Given the description of an element on the screen output the (x, y) to click on. 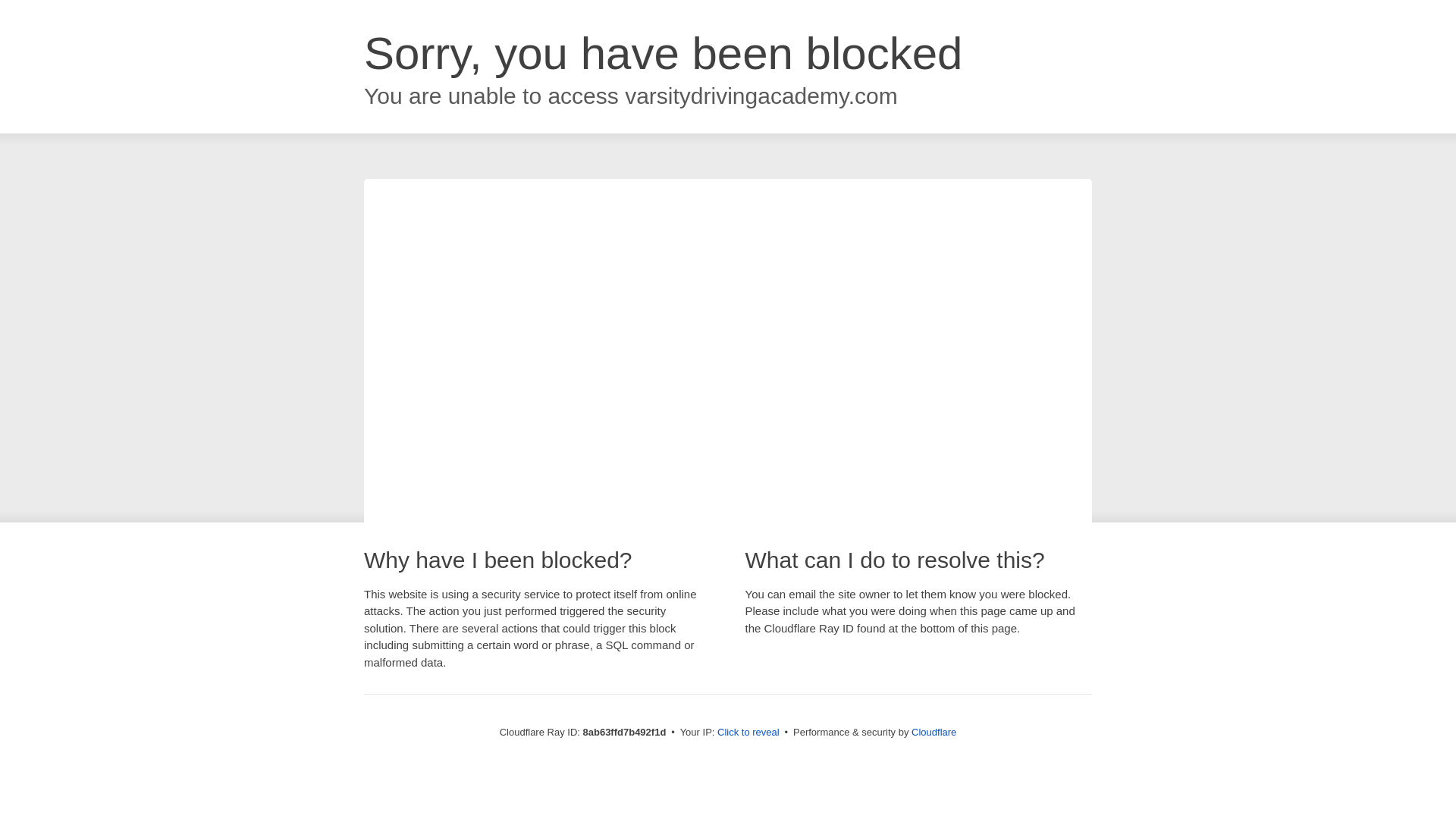
Click to reveal (747, 732)
Cloudflare (933, 731)
